Given the description of an element on the screen output the (x, y) to click on. 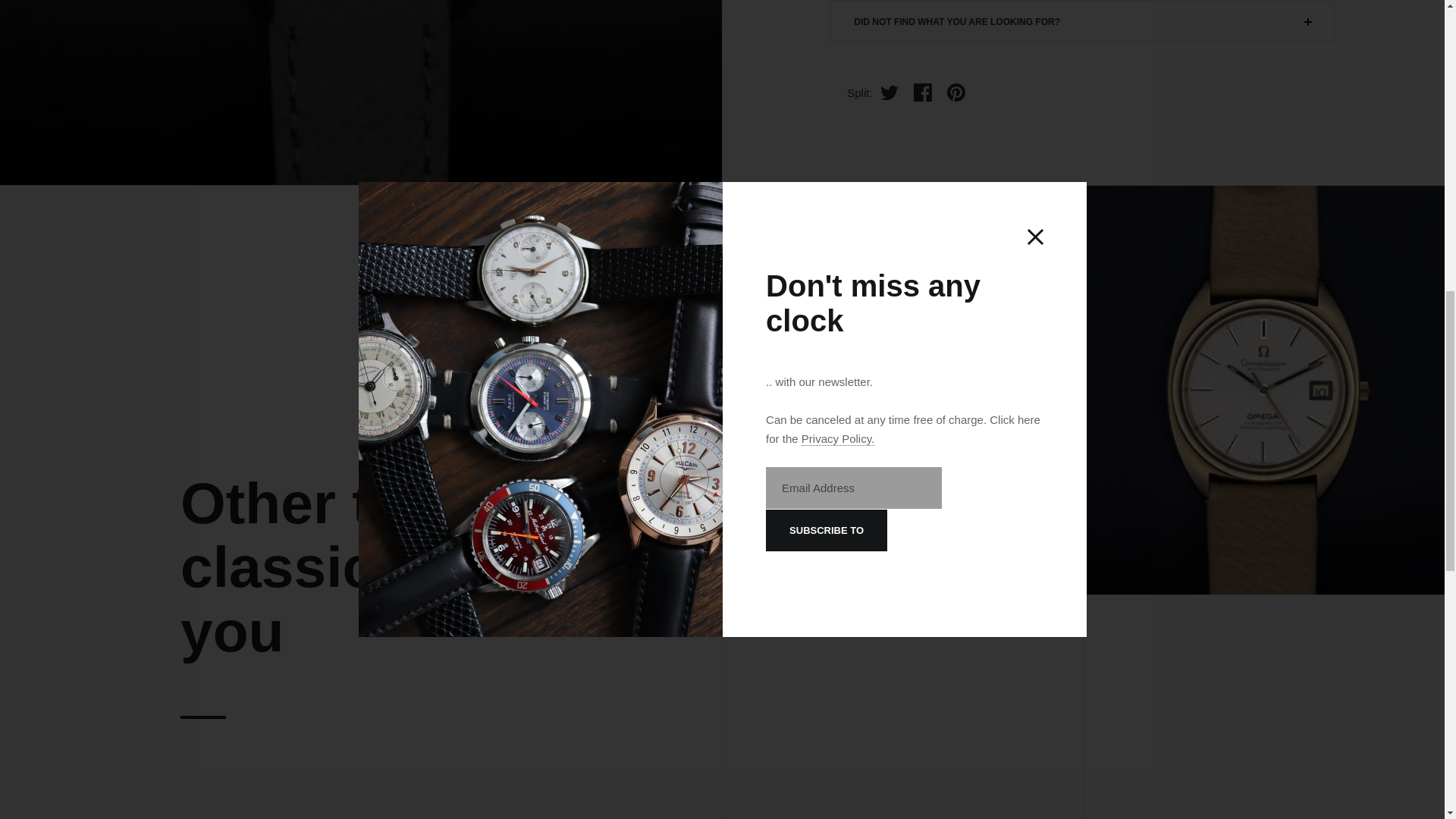
Split: (856, 92)
